Given the description of an element on the screen output the (x, y) to click on. 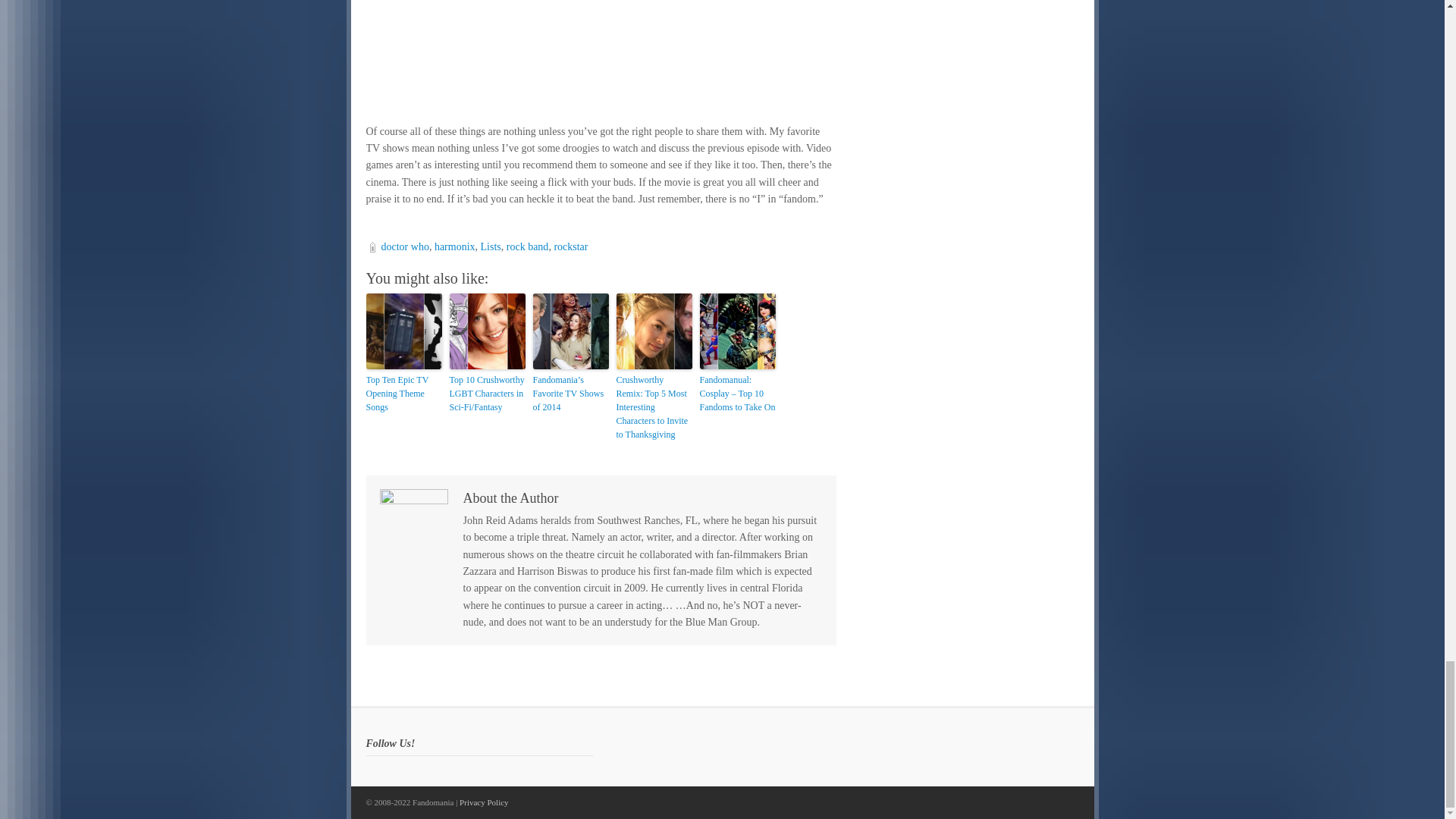
doctor who (404, 246)
harmonix (454, 246)
rockstar (570, 246)
Lists (490, 246)
rock band (527, 246)
